Given the description of an element on the screen output the (x, y) to click on. 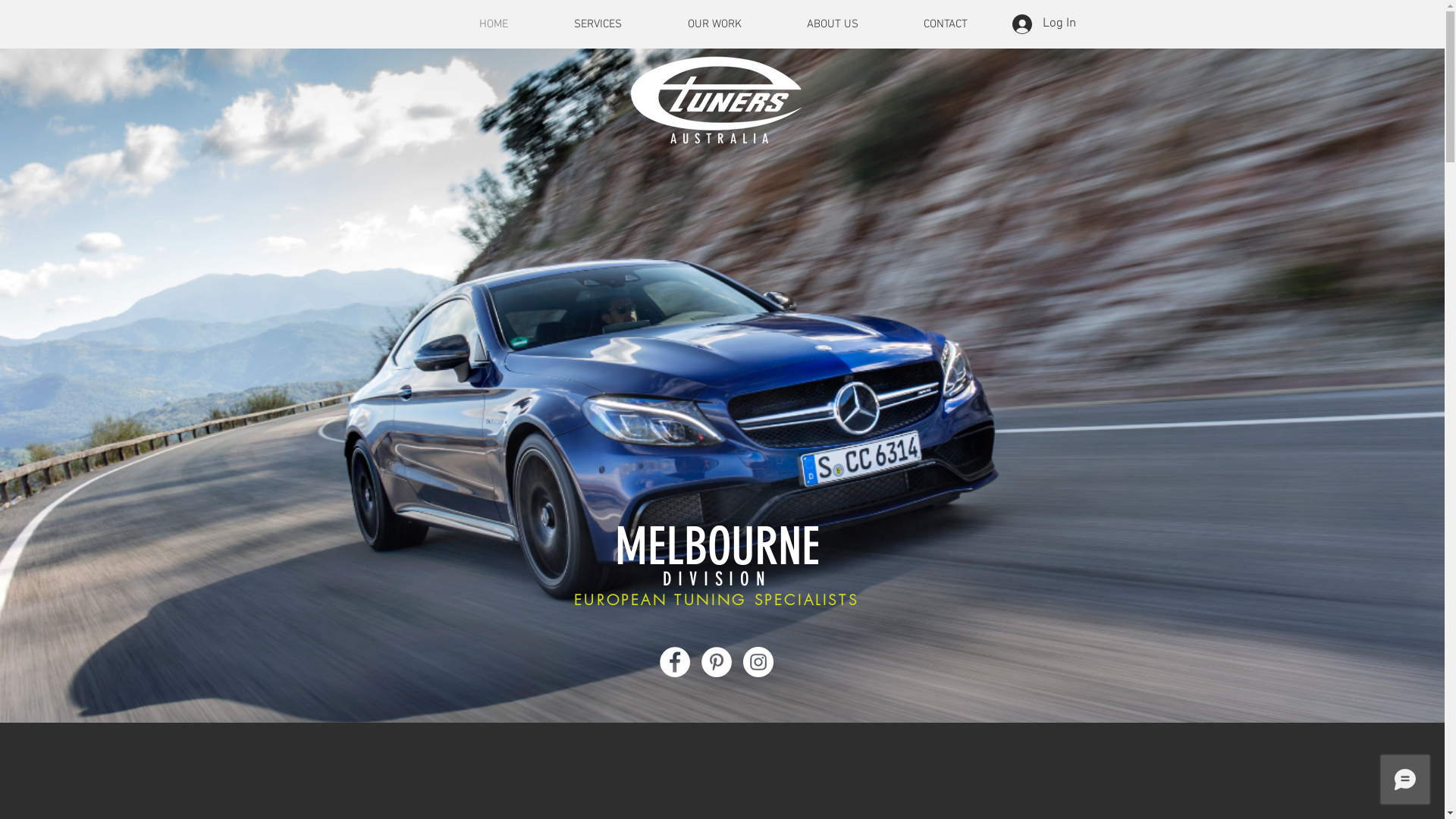
OUR WORK Element type: text (714, 24)
Log In Element type: text (1043, 23)
SERVICES Element type: text (598, 24)
HOME Element type: text (492, 24)
CONTACT Element type: text (944, 24)
ABOUT US Element type: text (831, 24)
